Given the description of an element on the screen output the (x, y) to click on. 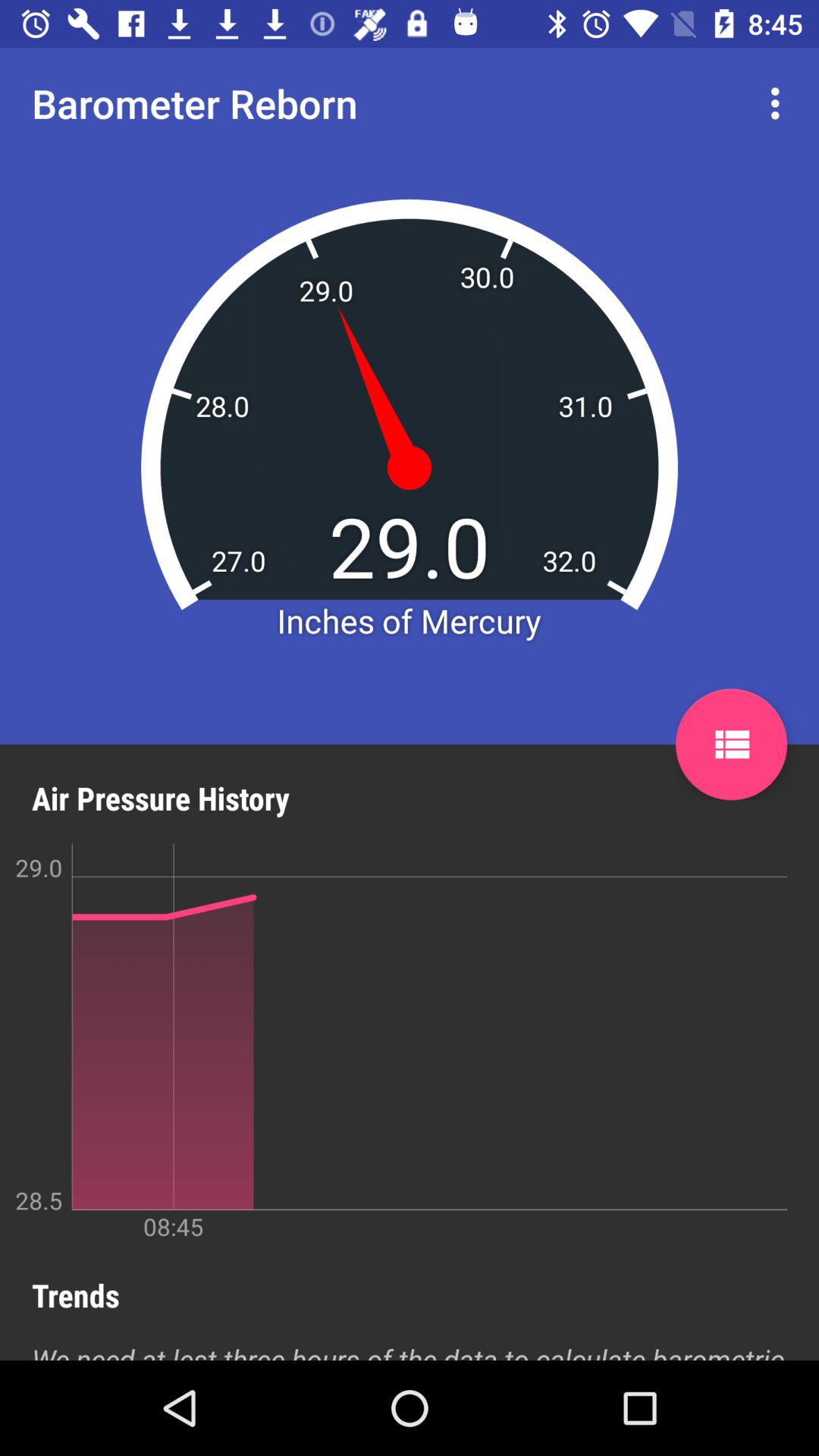
tap icon on the right (731, 744)
